Given the description of an element on the screen output the (x, y) to click on. 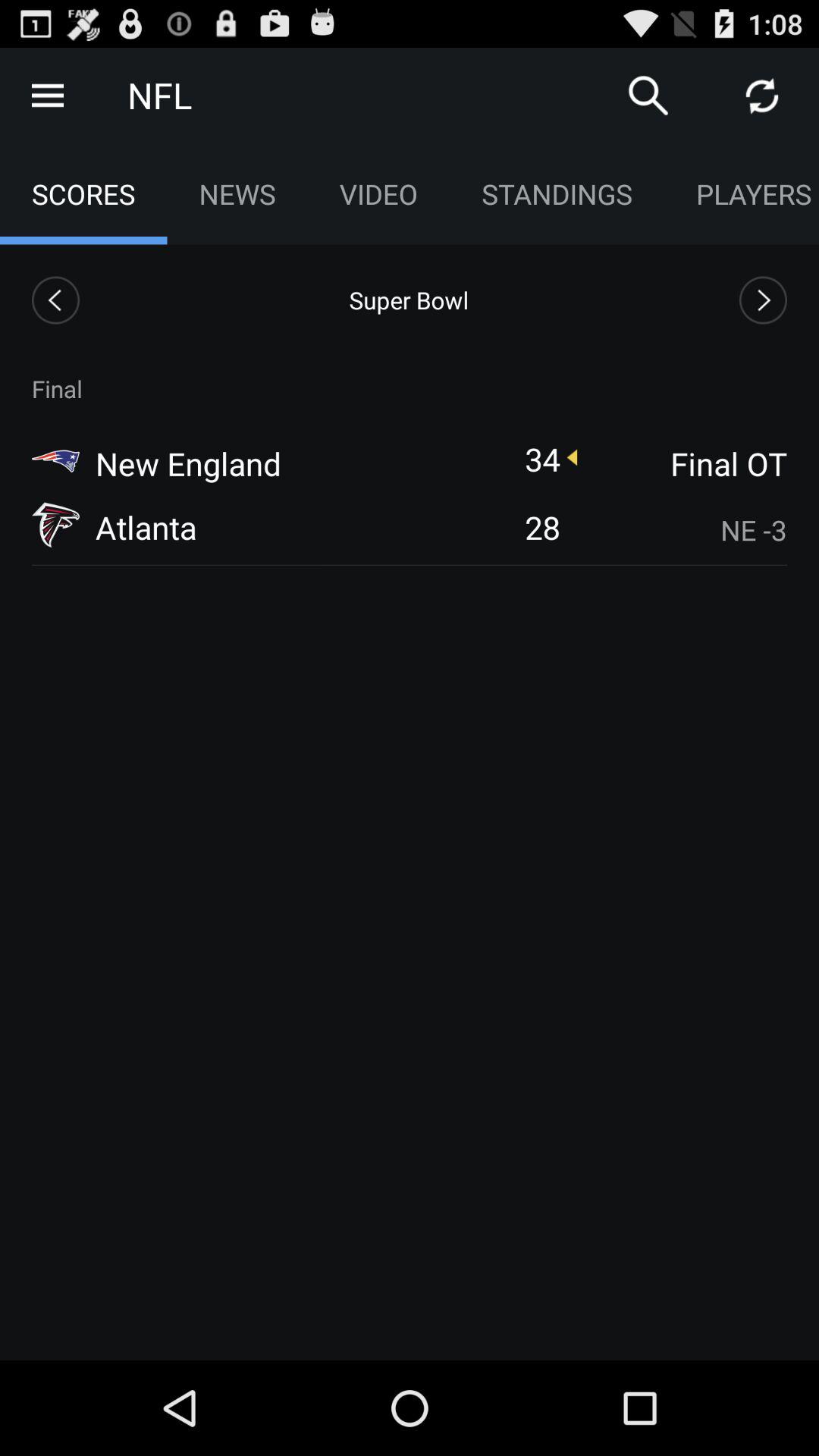
menu (47, 95)
